Given the description of an element on the screen output the (x, y) to click on. 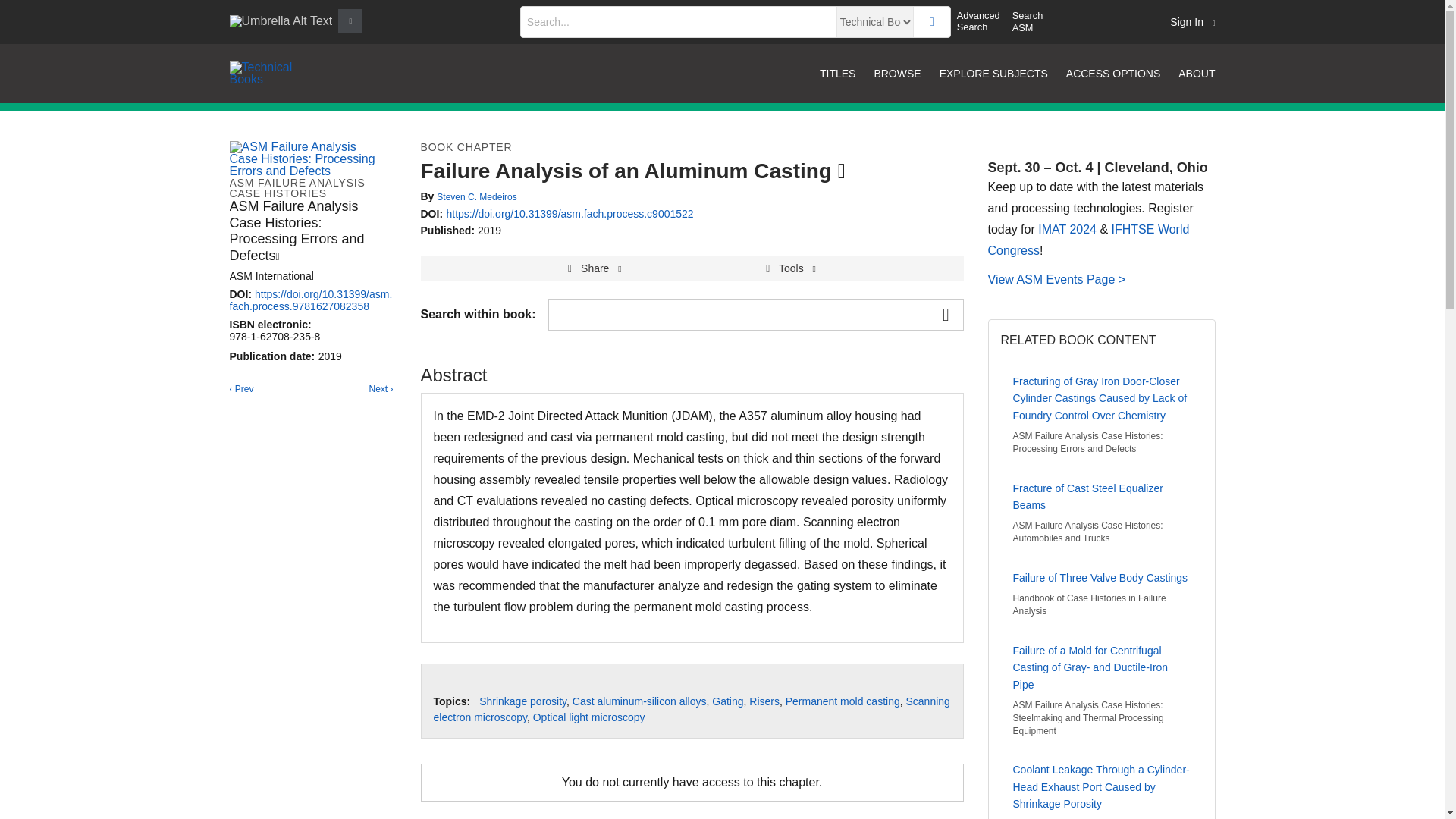
search input (678, 21)
